Given the description of an element on the screen output the (x, y) to click on. 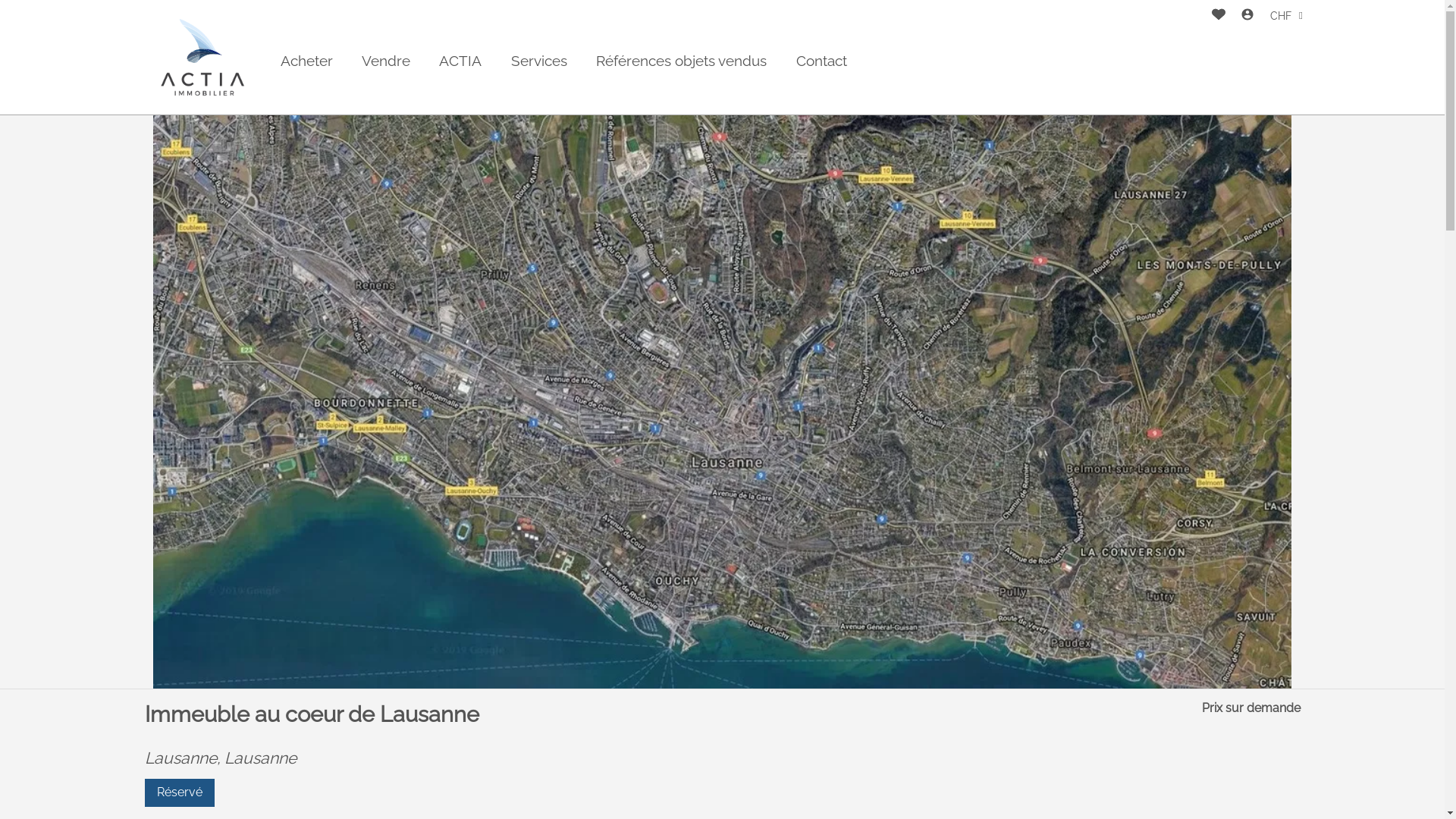
Services Element type: text (539, 60)
Contact Element type: text (821, 60)
ACTIA Element type: text (460, 60)
Acheter Element type: text (306, 60)
Vendre Element type: text (385, 60)
